Given the description of an element on the screen output the (x, y) to click on. 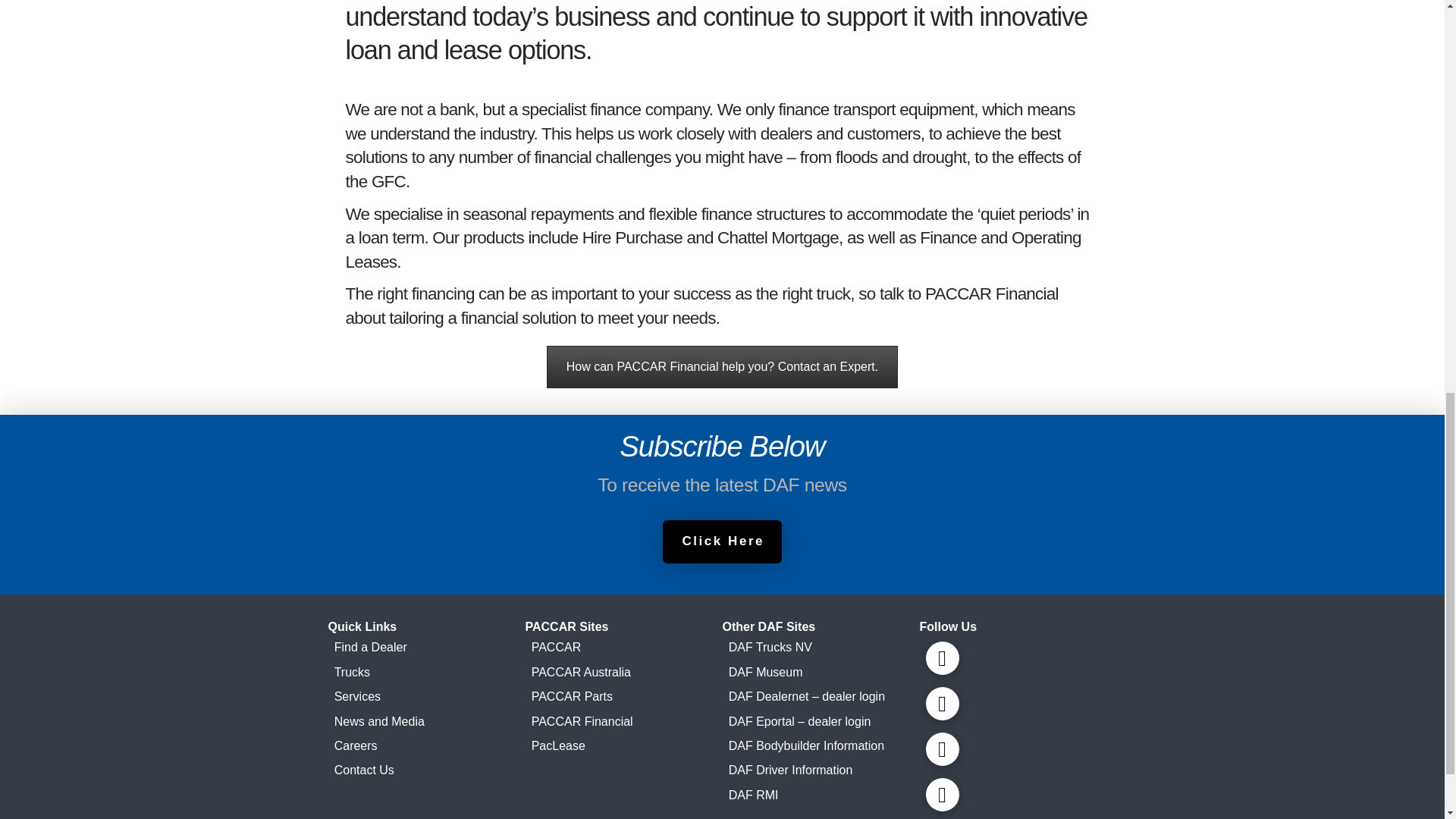
DAF Museum (820, 672)
DAF RMI (820, 794)
Find a Dealer (425, 647)
PACCAR (623, 647)
Services (425, 696)
PACCAR Financial (623, 721)
DAF Bodybuilder Information (820, 745)
Careers (425, 745)
PacLease (623, 745)
DAF Trucks NV (820, 647)
PACCAR Parts (623, 696)
Contact Us (425, 770)
How can PACCAR Financial help you? Contact an Expert. (722, 366)
PACCAR Australia (623, 672)
DAF Driver Information (820, 770)
